Given the description of an element on the screen output the (x, y) to click on. 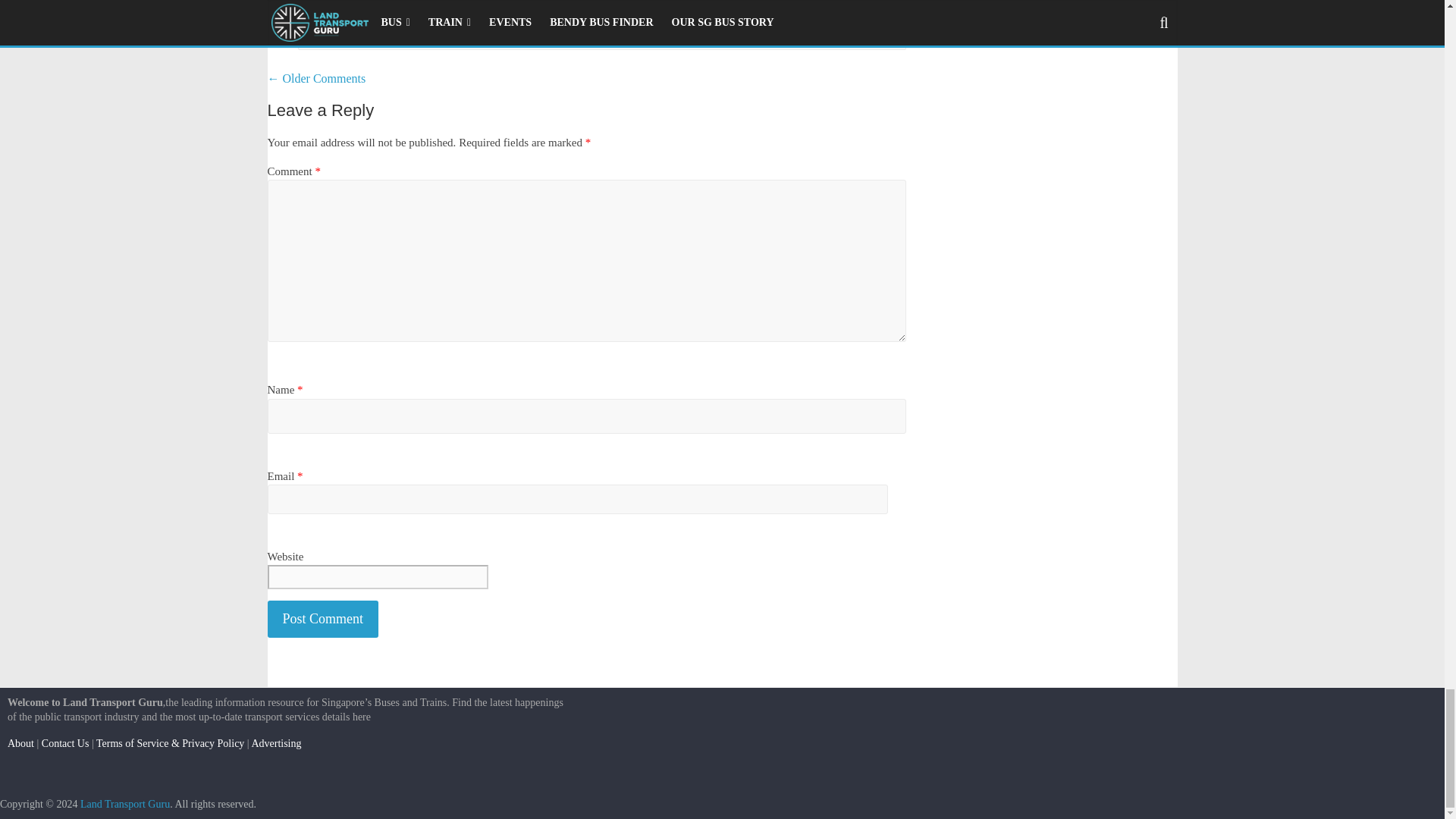
Post Comment (322, 619)
Land Transport Guru (125, 803)
